Given the description of an element on the screen output the (x, y) to click on. 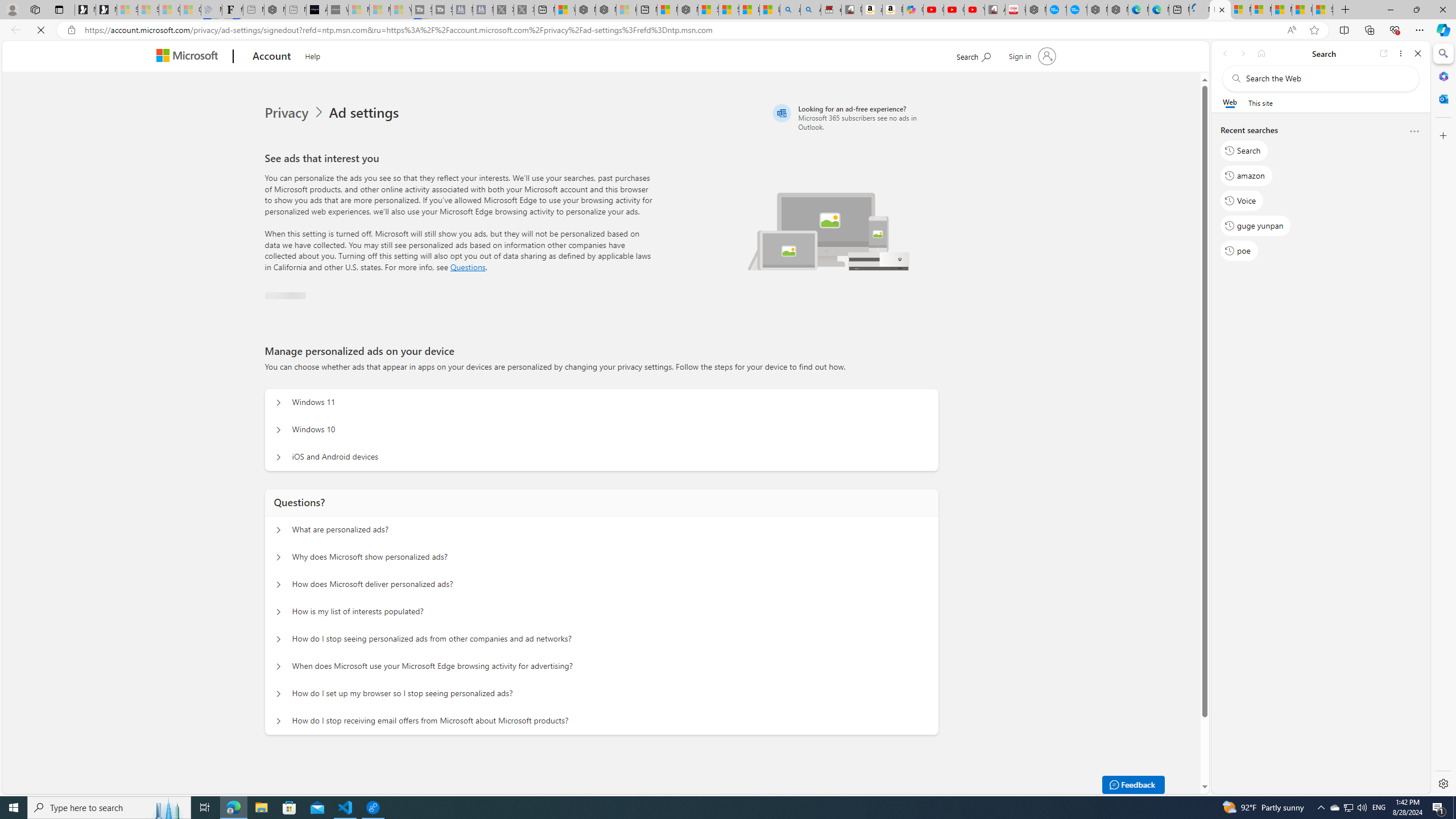
X - Sleeping (523, 9)
guge yunpan (1255, 225)
Search the web (1326, 78)
Customize (1442, 135)
Streaming Coverage | T3 - Sleeping (421, 9)
Forward (1242, 53)
App bar (728, 29)
Nordace - Summer Adventures 2024 (606, 9)
Newsletter Sign Up (106, 9)
Amazon Echo Dot PNG - Search Images (809, 9)
Nordace - Nordace Siena Is Not An Ordinary Backpack (687, 9)
